Given the description of an element on the screen output the (x, y) to click on. 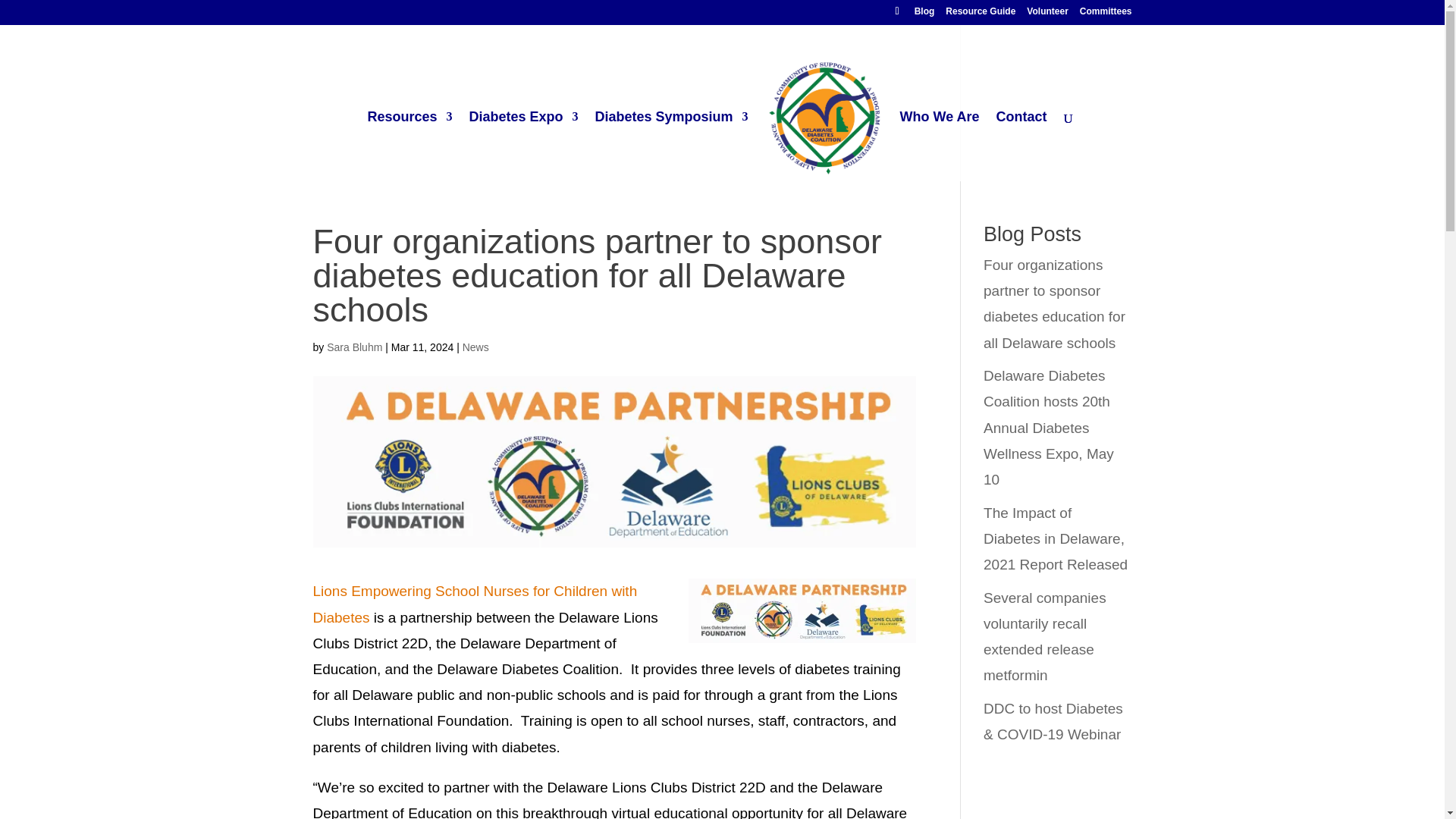
Resources (408, 145)
Diabetes Symposium (671, 145)
Resource Guide (979, 14)
Sara Bluhm (353, 346)
Lions Empowering School Nurses for Children with Diabetes (475, 603)
Posts by Sara Bluhm (353, 346)
Diabetes Expo (523, 145)
Blog (924, 14)
News (476, 346)
Who We Are (939, 145)
